Given the description of an element on the screen output the (x, y) to click on. 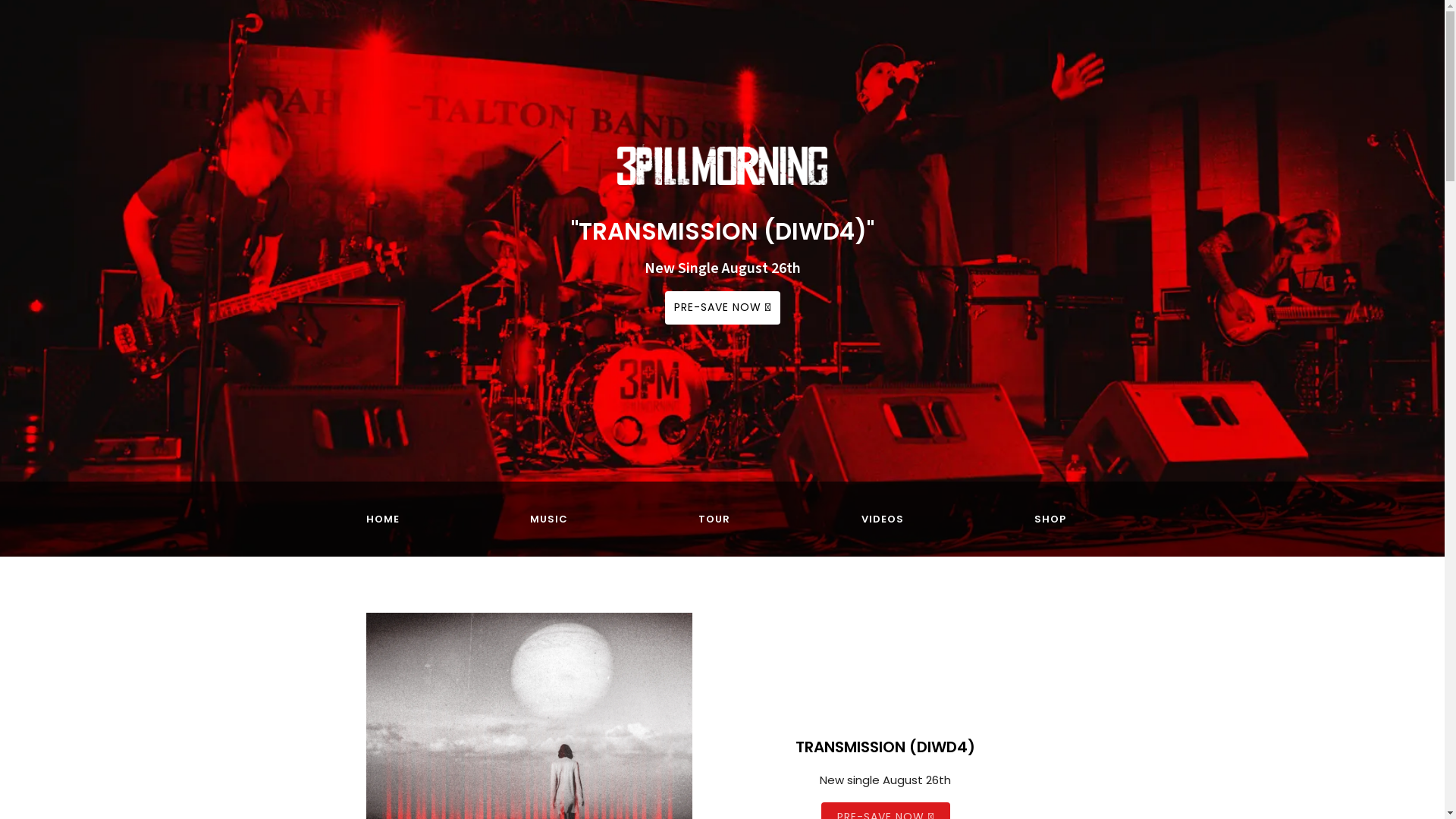
MUSIC Element type: text (549, 519)
HOME Element type: text (382, 519)
VIDEOS Element type: text (882, 519)
SHOP Element type: text (1049, 519)
TOUR Element type: text (714, 519)
